Given the description of an element on the screen output the (x, y) to click on. 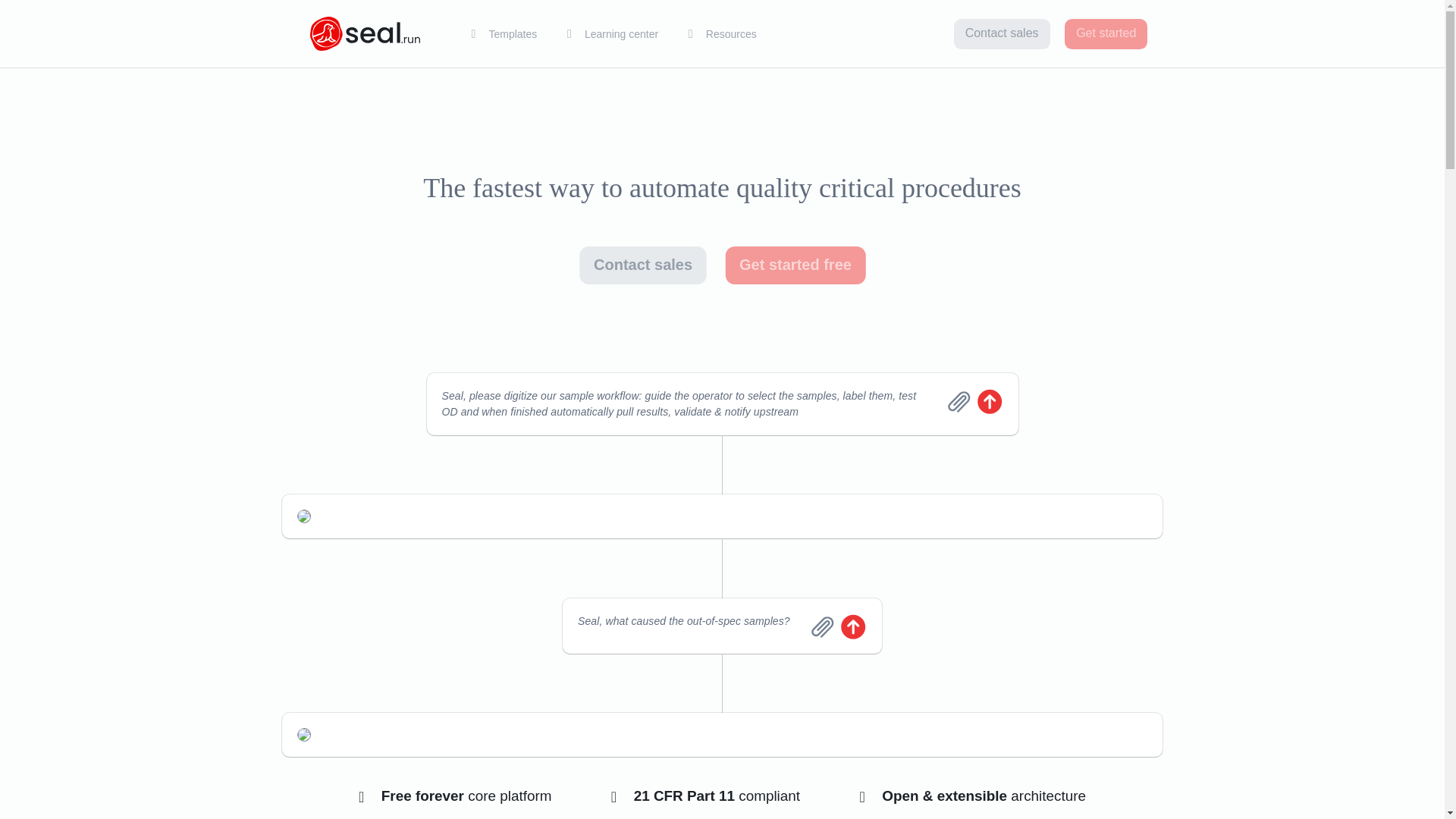
Get started free (781, 262)
Learning center (612, 33)
Templates (503, 33)
Contact sales (1001, 33)
Get started free (781, 261)
Contact sales (630, 261)
Resources (722, 33)
Get started (1105, 33)
